Given the description of an element on the screen output the (x, y) to click on. 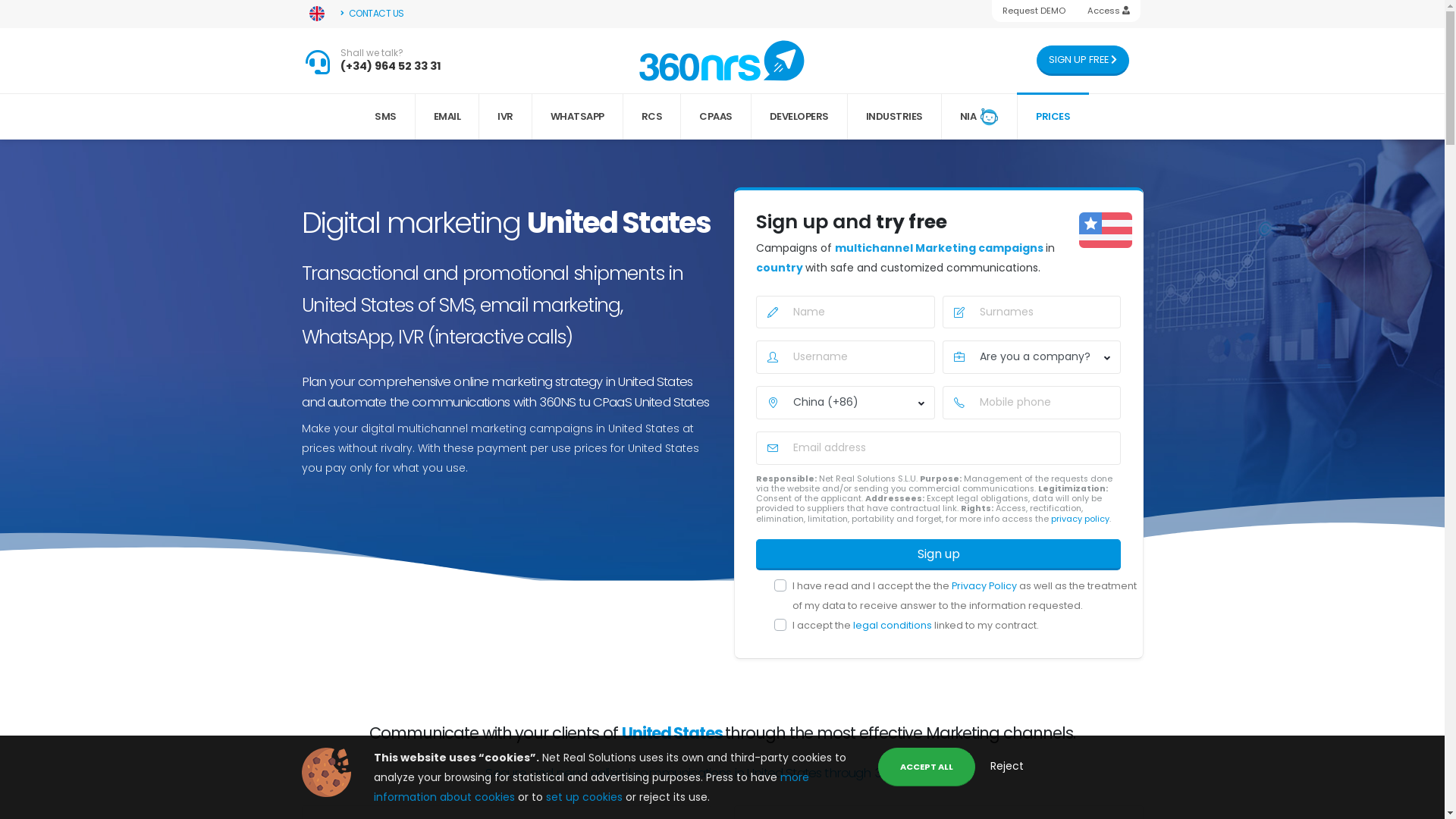
RCS Element type: text (652, 116)
Privacy Policy Element type: text (985, 585)
WHATSAPP Element type: text (577, 116)
IVR Element type: text (505, 116)
EMAIL Element type: text (447, 116)
INDUSTRIES Element type: text (894, 116)
CONTACT US Element type: text (372, 13)
more information about cookies Element type: text (590, 786)
Request DEMO Element type: text (1033, 10)
(+34) 964 52 33 31 Element type: text (390, 65)
SMS Element type: text (385, 116)
set up cookies Element type: text (585, 796)
Reject Element type: text (1006, 765)
SIGN UP FREE Element type: text (1082, 60)
Last names can only contain letters. Element type: hover (1030, 312)
NIA Element type: text (979, 116)
privacy policy Element type: text (1080, 518)
legal conditions Element type: text (893, 624)
ACCEPT ALL Element type: text (926, 766)
CPAAS Element type: text (715, 116)
The name can only contain letters. Element type: hover (845, 312)
Sign up Element type: text (938, 554)
Access Element type: text (1108, 10)
DEVELOPERS Element type: text (798, 116)
PRICES Element type: text (1052, 116)
